Given the description of an element on the screen output the (x, y) to click on. 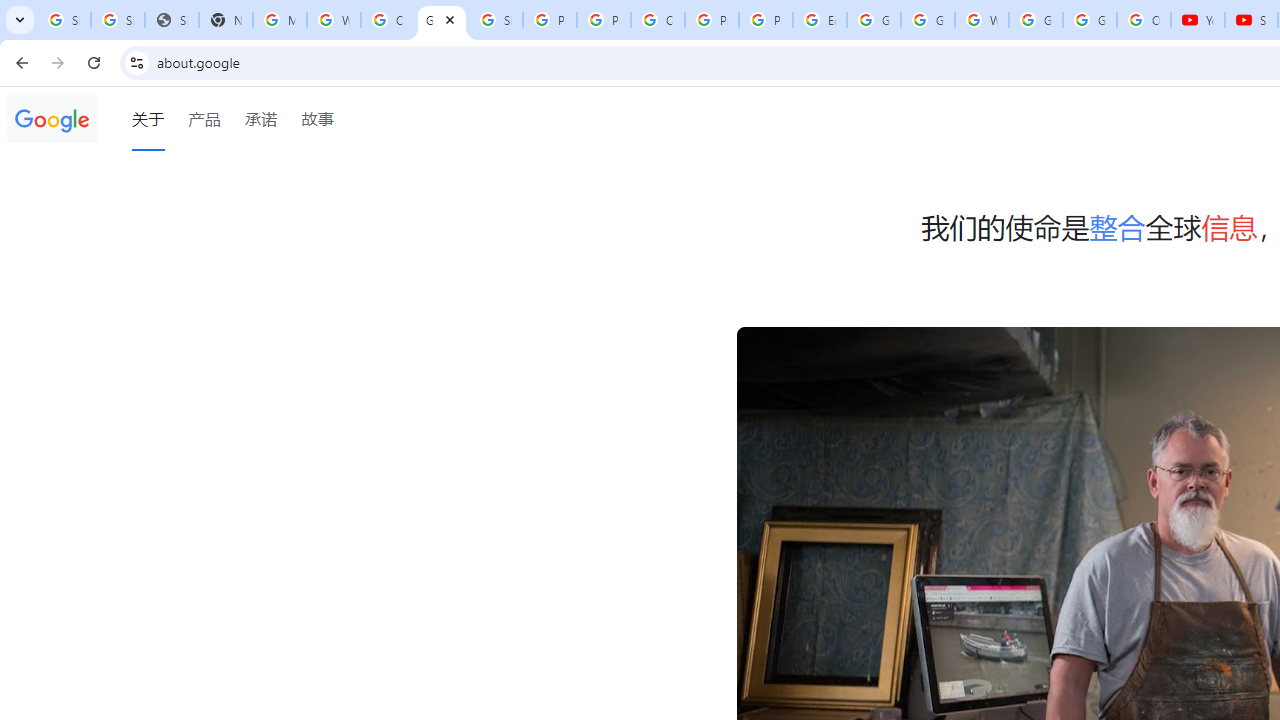
Create your Google Account (657, 20)
View site information (136, 62)
Who is my administrator? - Google Account Help (333, 20)
Sign in - Google Accounts (63, 20)
Edit and view right-to-left text - Google Docs Editors Help (819, 20)
Back (19, 62)
Google Slides: Sign-in (874, 20)
Forward (57, 62)
Google (52, 119)
